Given the description of an element on the screen output the (x, y) to click on. 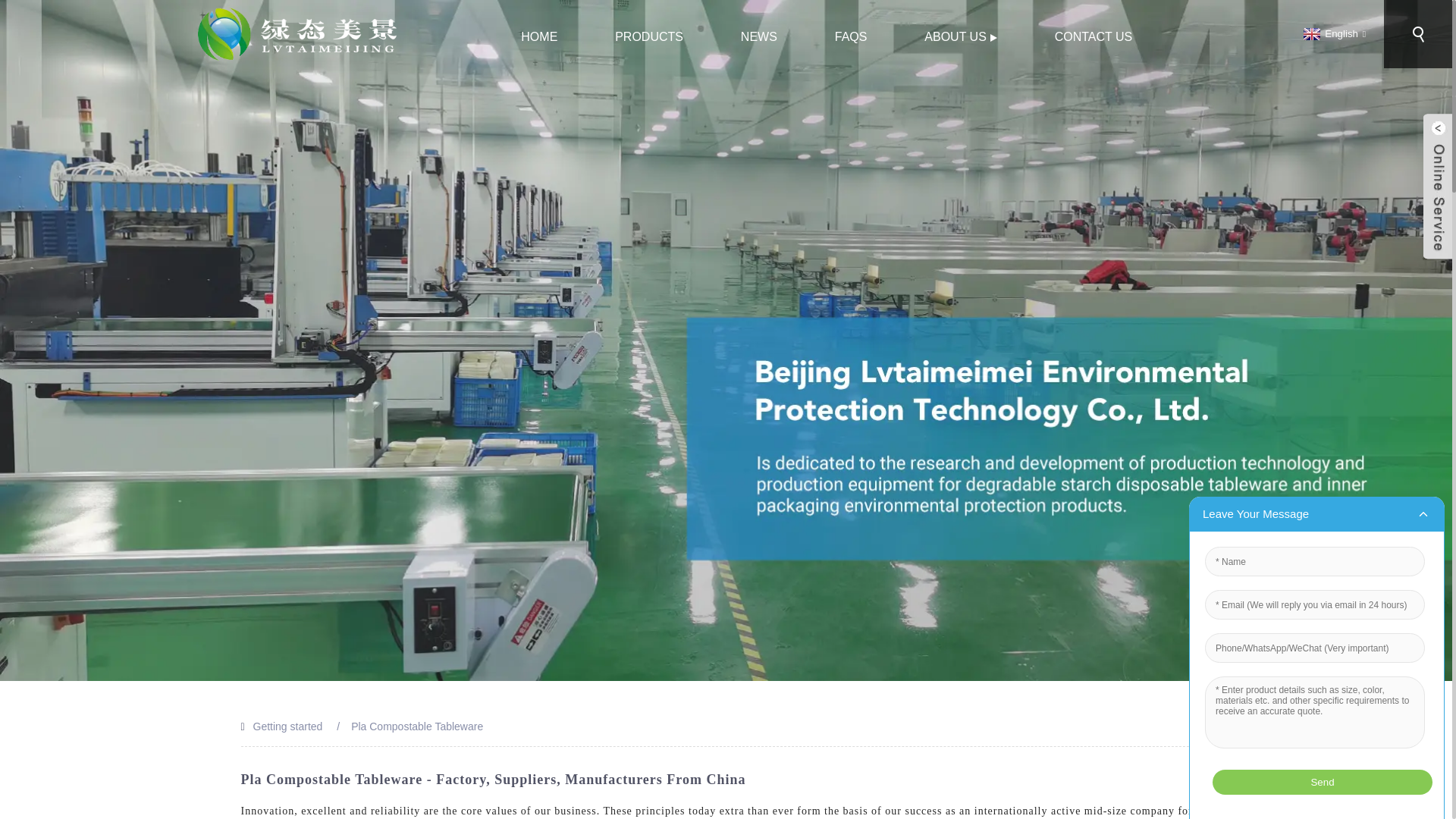
ABOUT US (960, 36)
Getting started (288, 726)
CONTACT US (1093, 36)
PRODUCTS (649, 36)
Pla Compostable Tableware (416, 726)
English (1332, 33)
